Given the description of an element on the screen output the (x, y) to click on. 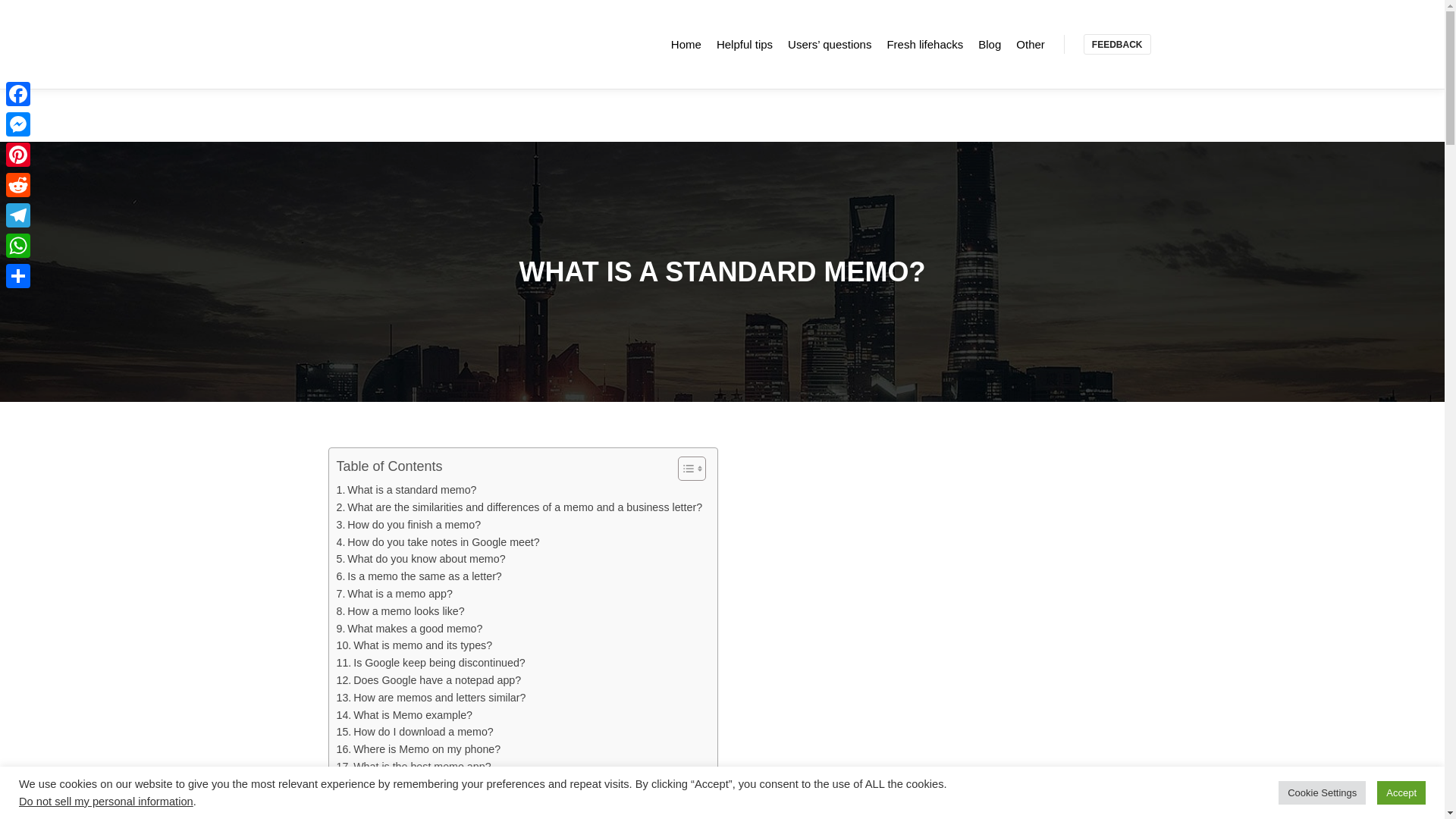
Where is Memo on my phone? (418, 749)
How are memos and letters similar? (430, 697)
Where is Memo on my phone? (418, 749)
What makes a good memo? (409, 628)
How are memos and letters similar? (430, 697)
What do you know about memo? (420, 559)
What is Memo example? (403, 714)
Does a memo have a signature? (423, 784)
What is a memo app? (394, 593)
What is the most secure note-taking app? (444, 801)
Is Google keep being discontinued? (430, 662)
How do I download a memo? (414, 732)
What is memo and its types? (414, 645)
What is a memo app? (394, 593)
